Given the description of an element on the screen output the (x, y) to click on. 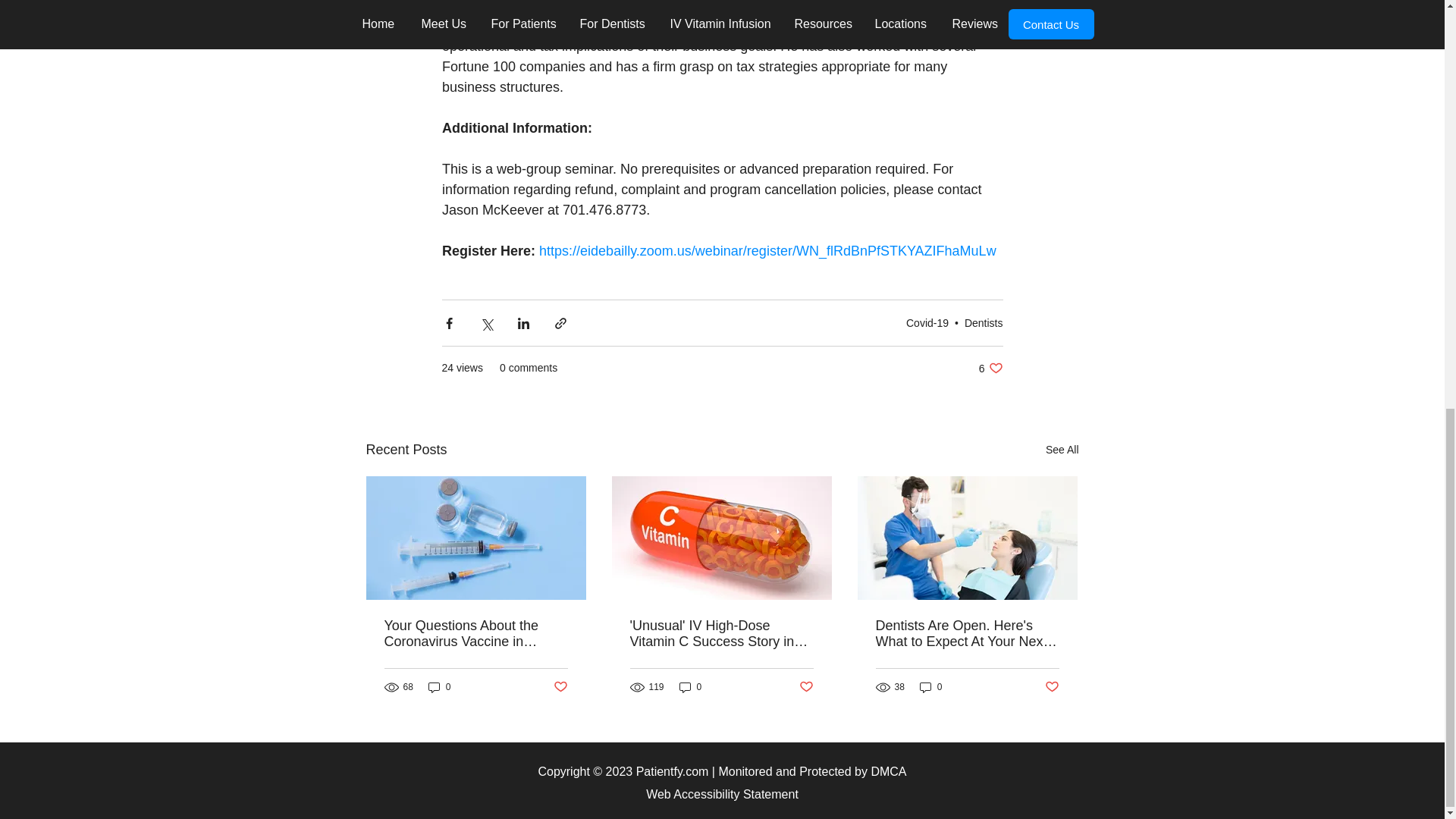
Covid-19 (927, 322)
Dentists (983, 322)
